Given the description of an element on the screen output the (x, y) to click on. 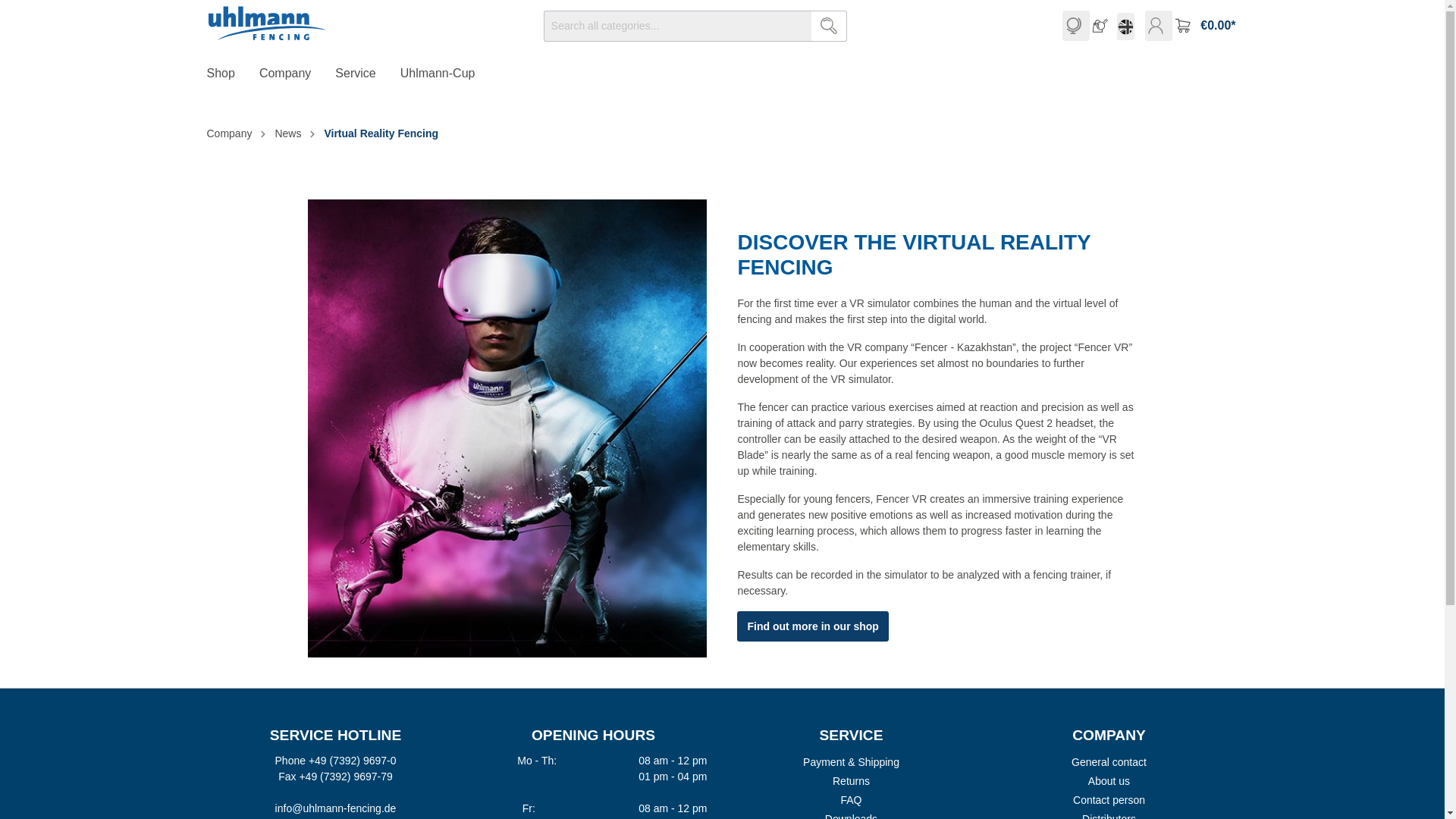
Price Display (1075, 25)
Shopping cart (1204, 25)
Shop (232, 75)
Go to homepage (266, 22)
Shop (232, 75)
Search (828, 25)
Merchant Finder (1102, 25)
Uhlmann-Cup (449, 75)
My account (1158, 25)
GB (1126, 26)
